Given the description of an element on the screen output the (x, y) to click on. 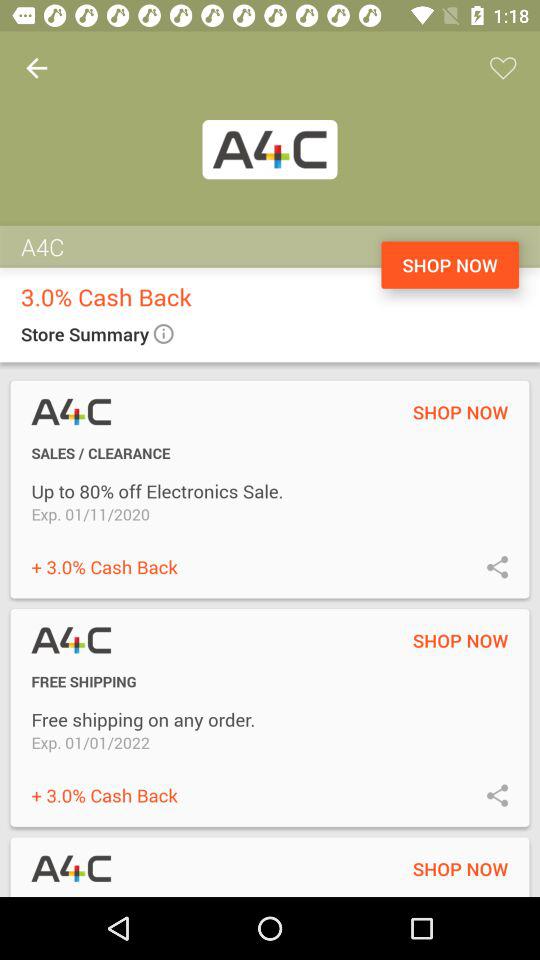
share (497, 794)
